Given the description of an element on the screen output the (x, y) to click on. 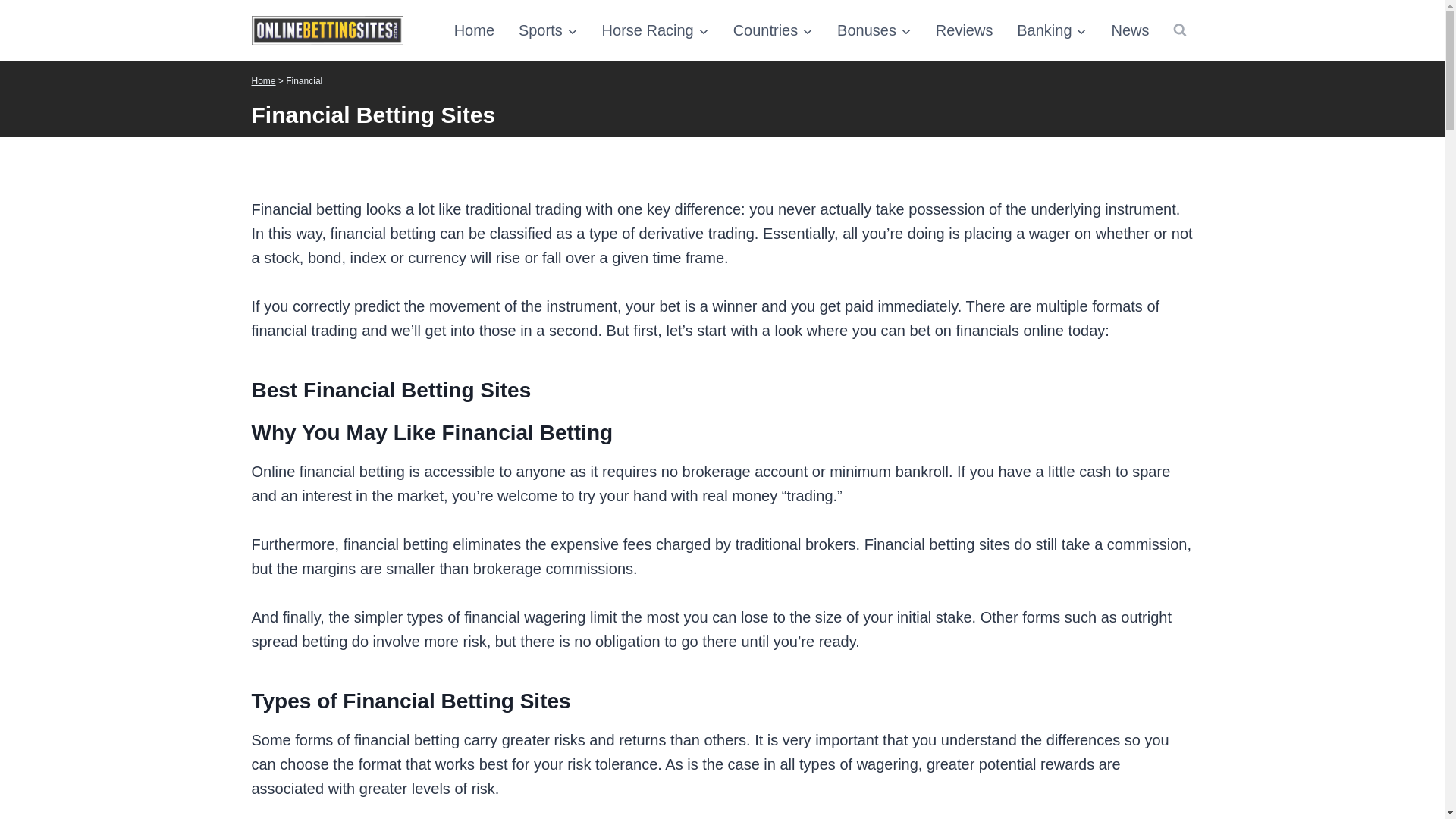
Horse Racing (654, 30)
Home (263, 81)
Banking (1051, 30)
News (1129, 30)
Countries (772, 30)
Home (474, 30)
Sports (547, 30)
Bonuses (874, 30)
Reviews (964, 30)
